Given the description of an element on the screen output the (x, y) to click on. 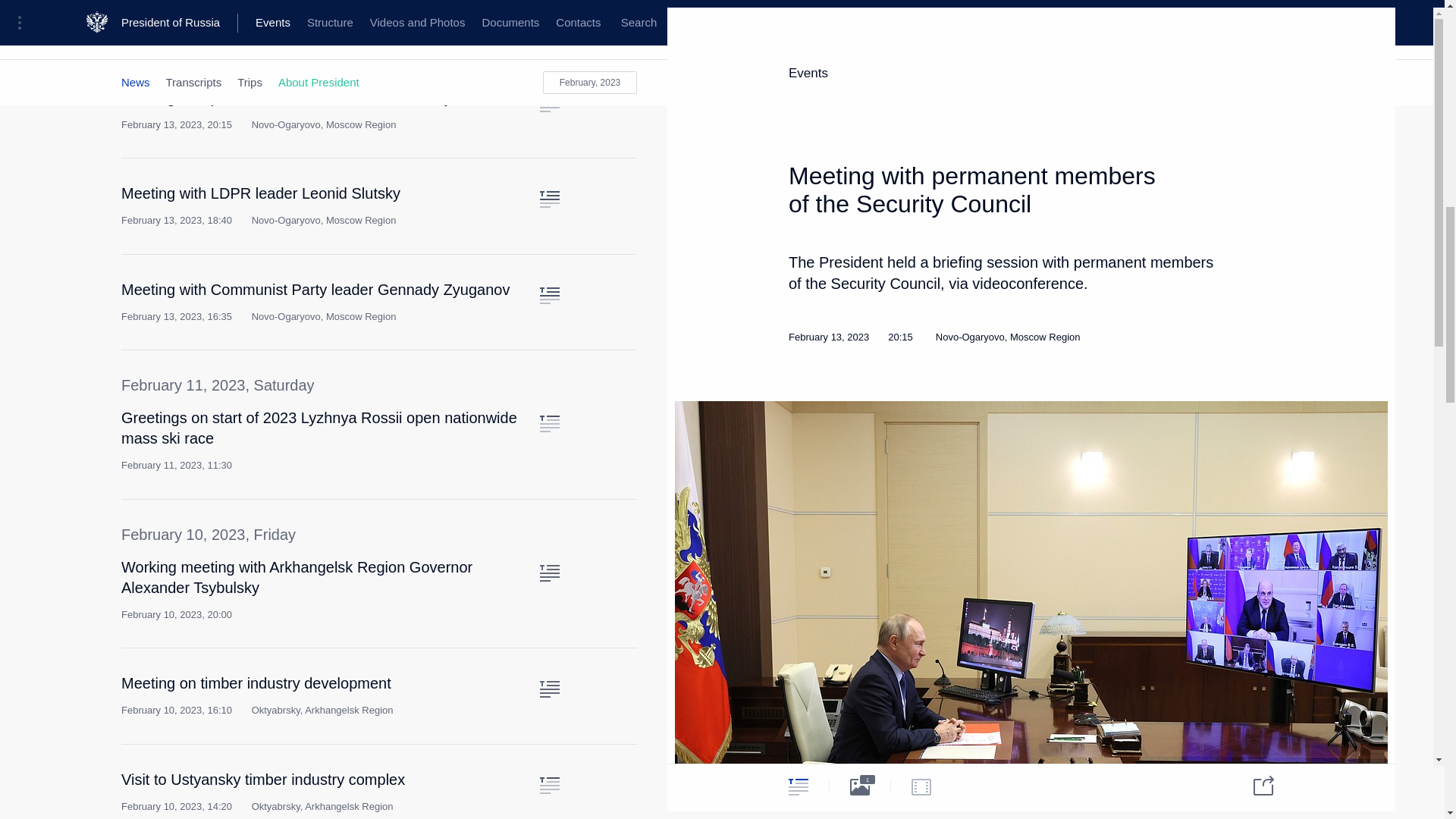
Text of the article (549, 295)
Text of the article (549, 423)
Text of the article (549, 688)
Text of the article (549, 199)
Text of the article (549, 573)
Text of the article (549, 785)
Text of the article (549, 103)
